Given the description of an element on the screen output the (x, y) to click on. 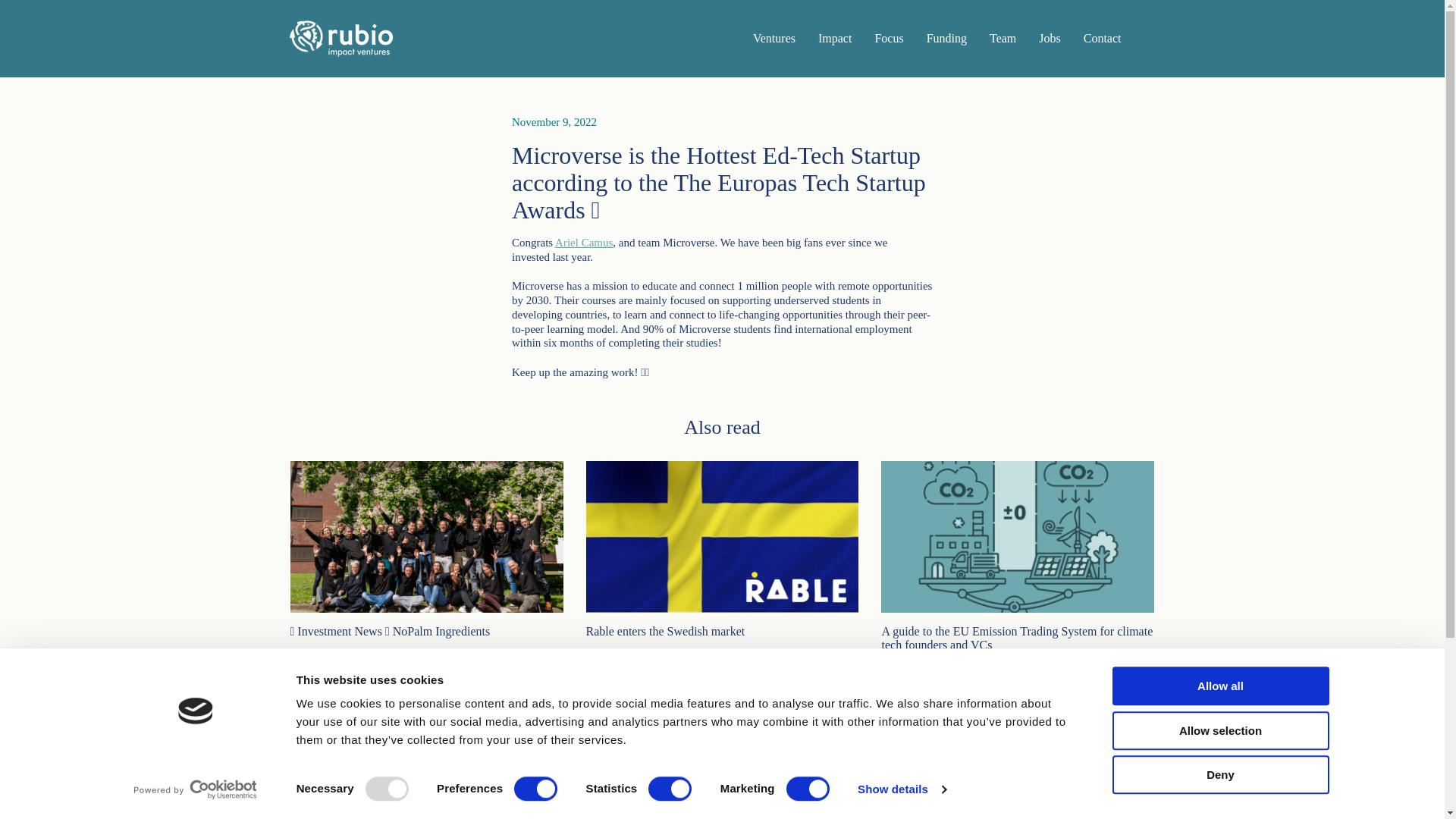
Deny (1219, 774)
Allow selection (1219, 730)
Rubio (341, 816)
Rable enters the Swedish market (722, 573)
News overview (721, 723)
Show details (900, 789)
Rubio (341, 38)
